Given the description of an element on the screen output the (x, y) to click on. 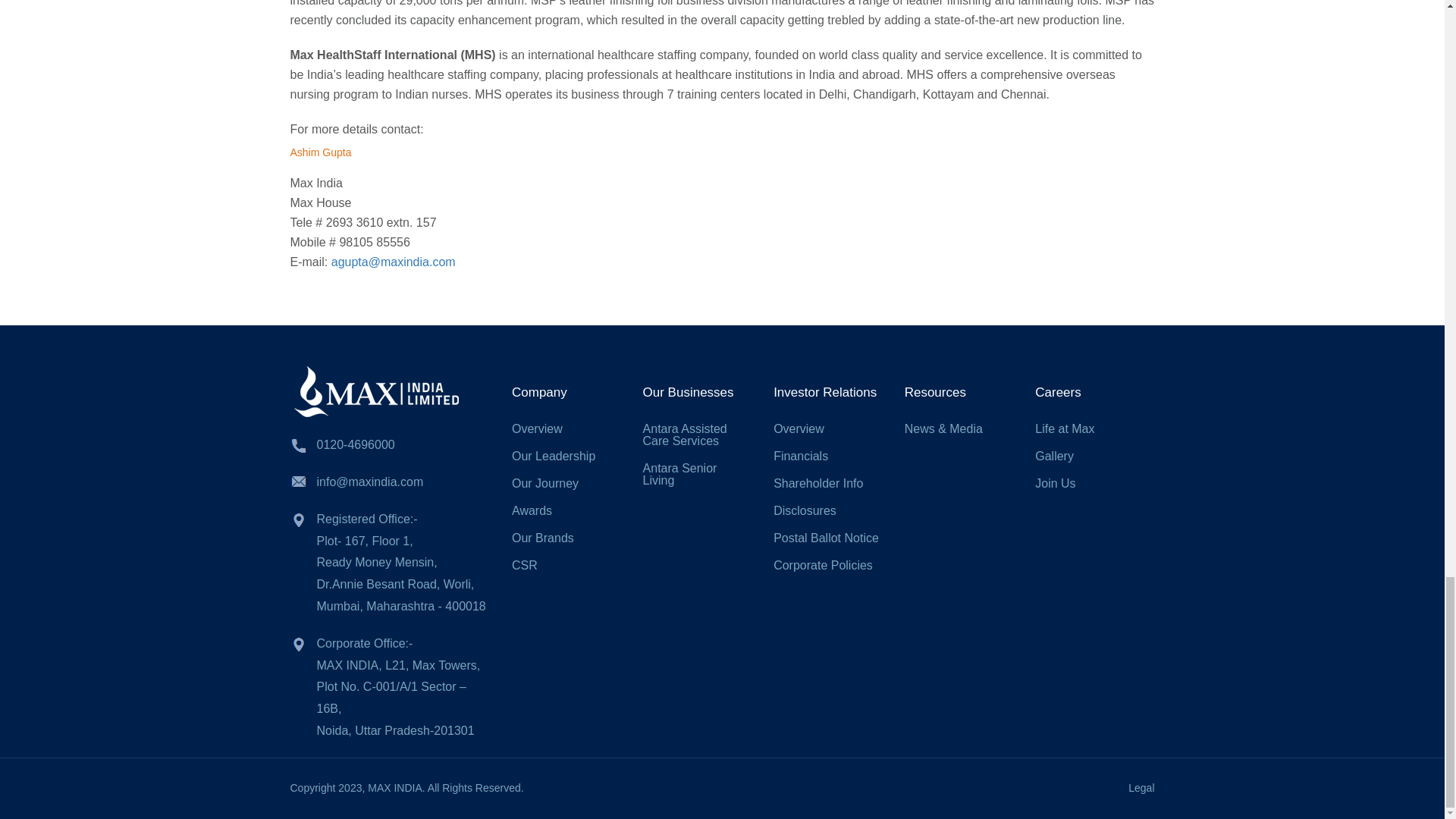
Overview (537, 428)
0120-4696000 (355, 444)
Antara Senior Living (680, 473)
CSR (524, 564)
Antara Assisted Care Services (684, 434)
Awards (531, 510)
Overview (798, 428)
Our Brands (542, 537)
Our Journey (545, 482)
Our Leadership (553, 455)
